Given the description of an element on the screen output the (x, y) to click on. 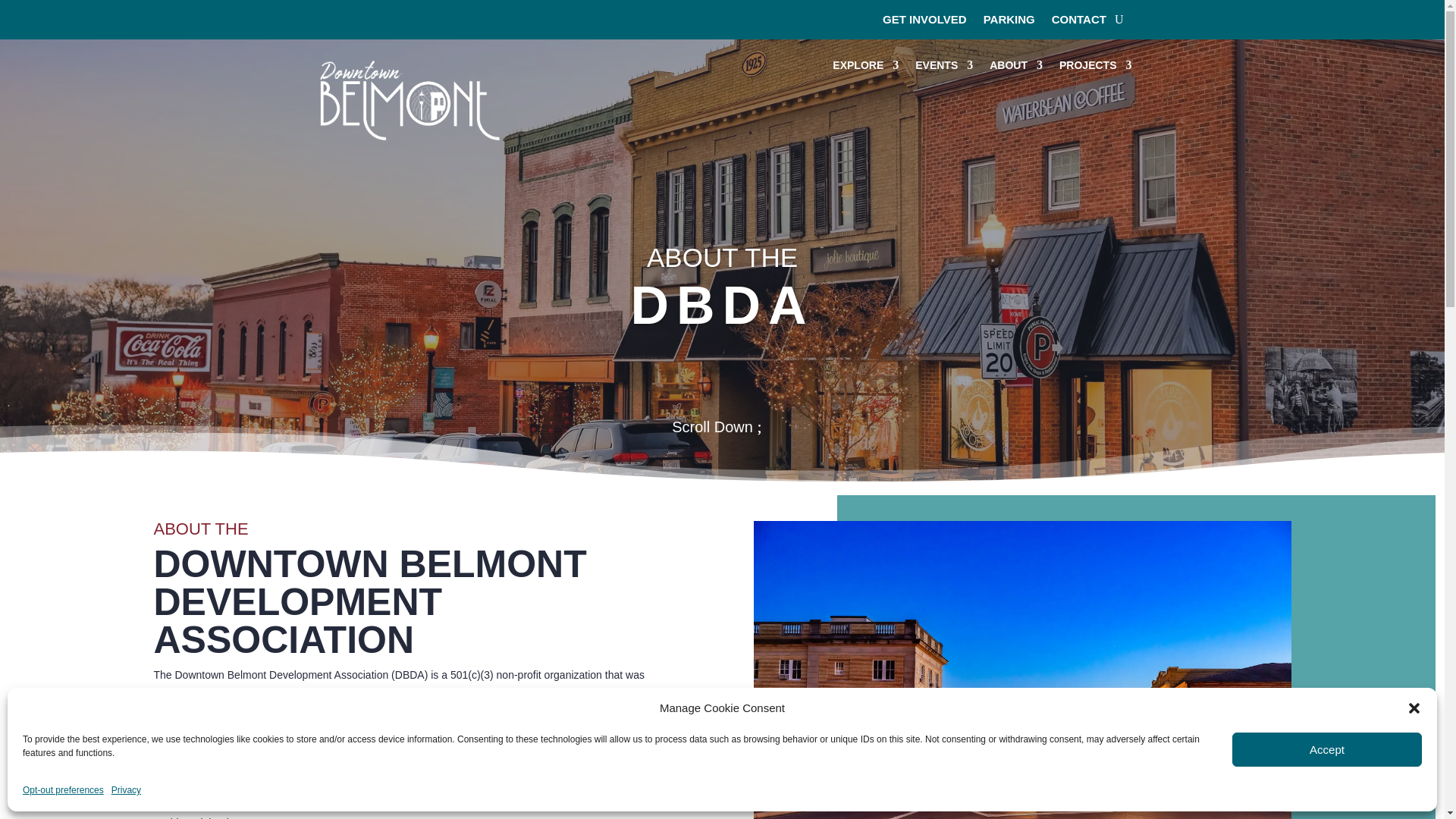
PARKING (1009, 22)
GET INVOLVED (924, 22)
GET INVOLVED (28, 58)
Opt-out preferences (63, 791)
Privacy (126, 791)
CONTACT (1078, 22)
Accept (1326, 749)
